Given the description of an element on the screen output the (x, y) to click on. 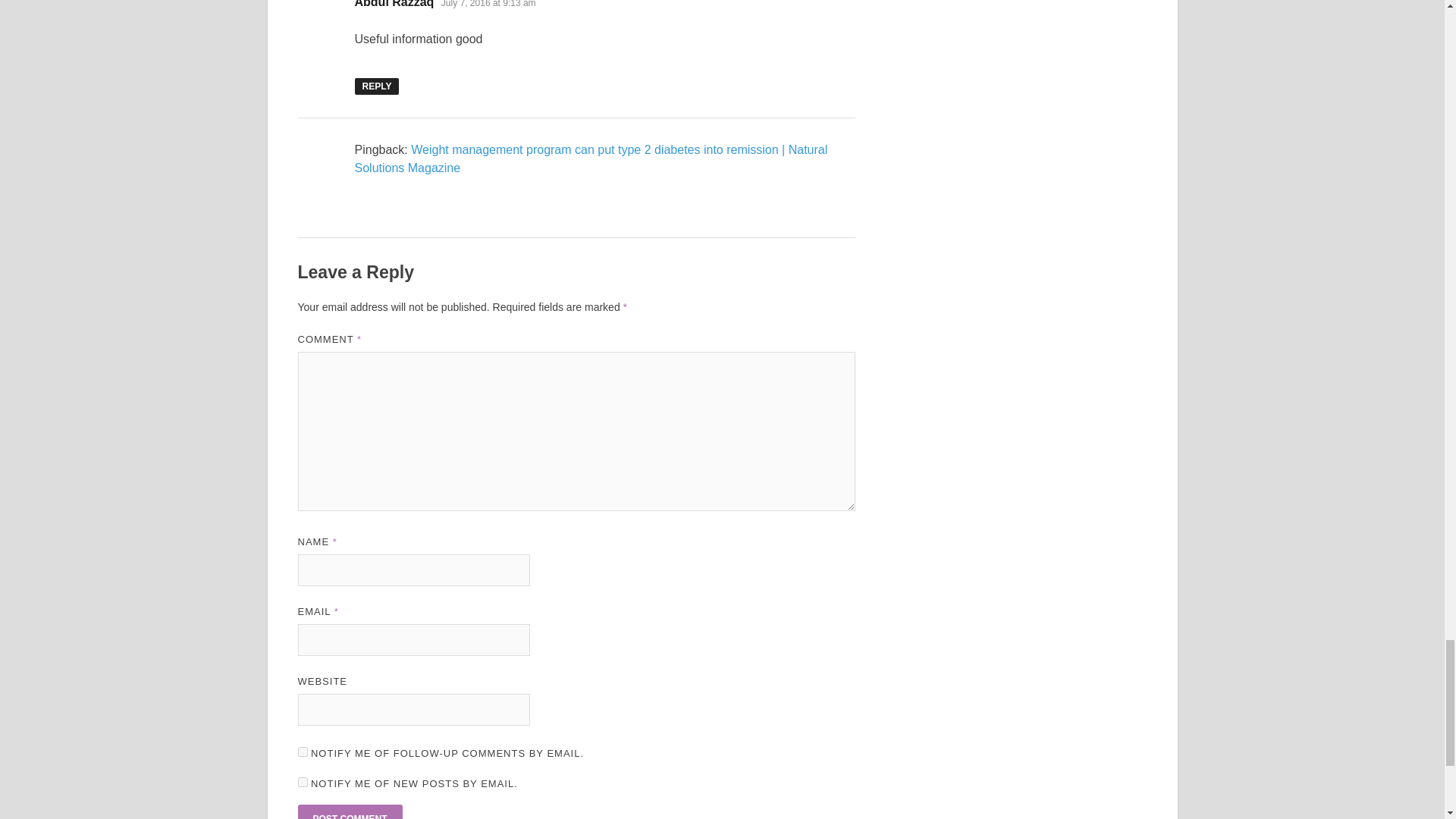
Post Comment (349, 811)
subscribe (302, 782)
subscribe (302, 751)
